Given the description of an element on the screen output the (x, y) to click on. 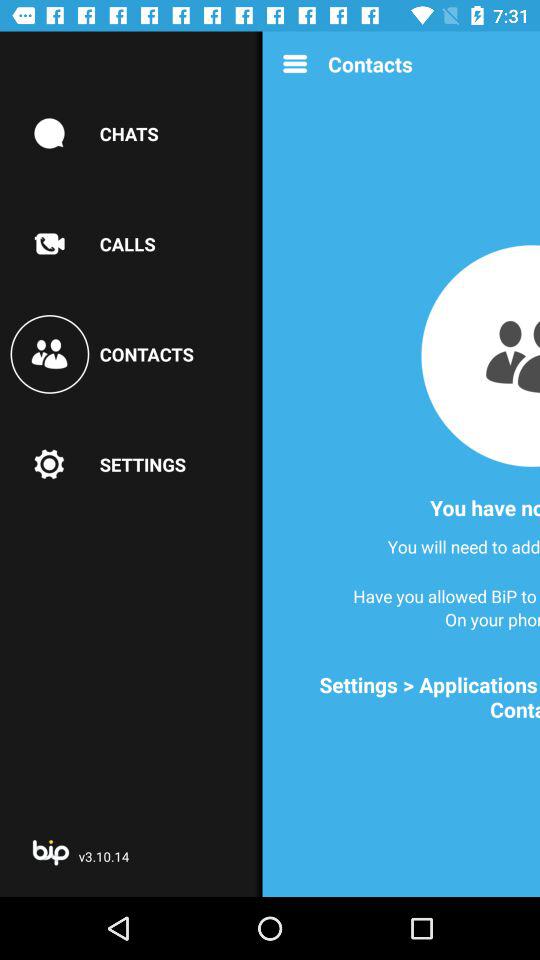
turn on the settings applications bip at the bottom right corner (407, 697)
